Given the description of an element on the screen output the (x, y) to click on. 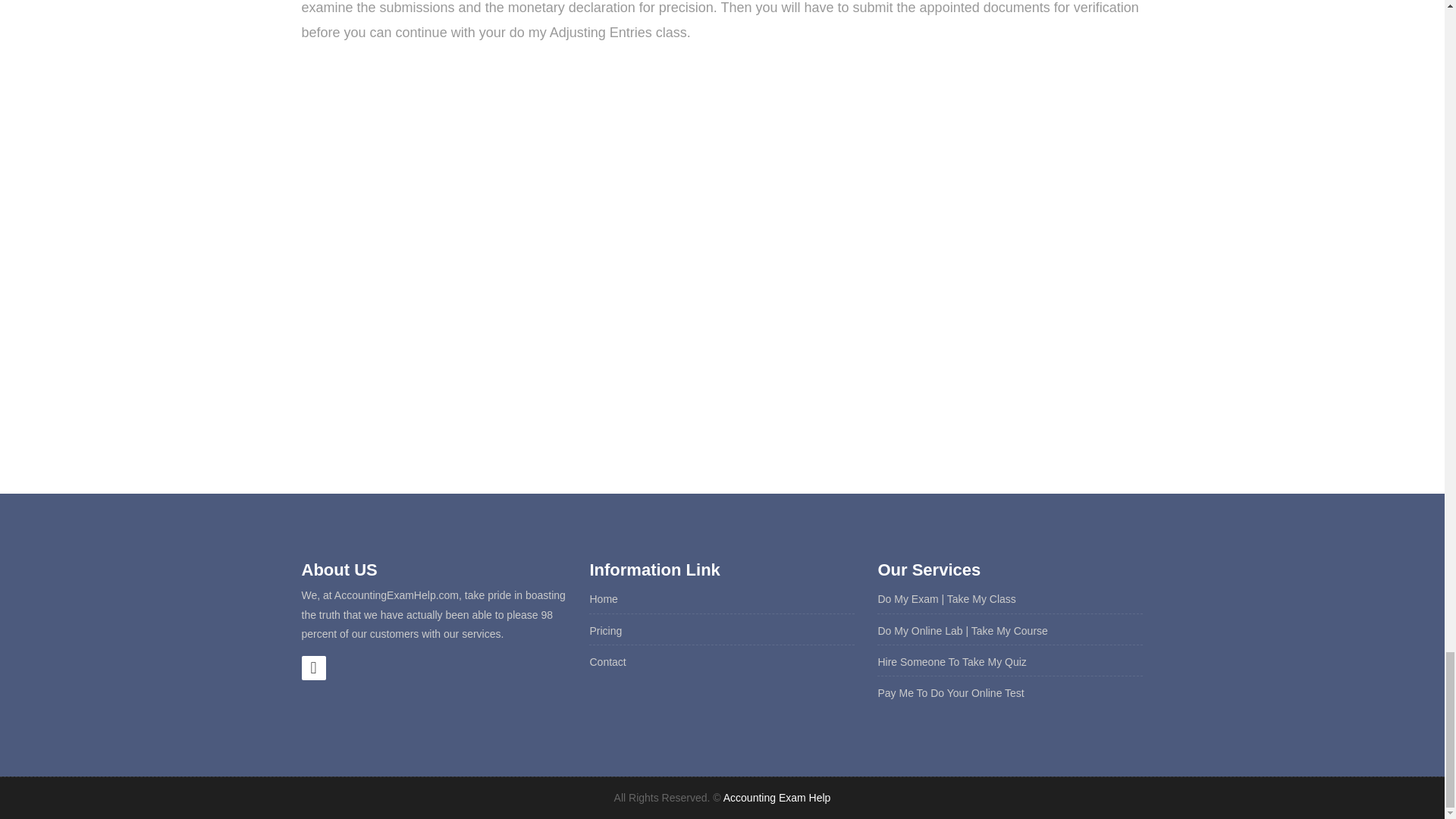
Do My Online Lab (919, 630)
Home (603, 598)
Pay Me To Do Your Online Test (950, 693)
Contact (607, 662)
Take My Class (981, 598)
Accounting Exam Help (777, 797)
Hire Someone To Take My Quiz (951, 662)
Take My Course (1009, 630)
Do My Exam (907, 598)
Pricing (605, 630)
